Given the description of an element on the screen output the (x, y) to click on. 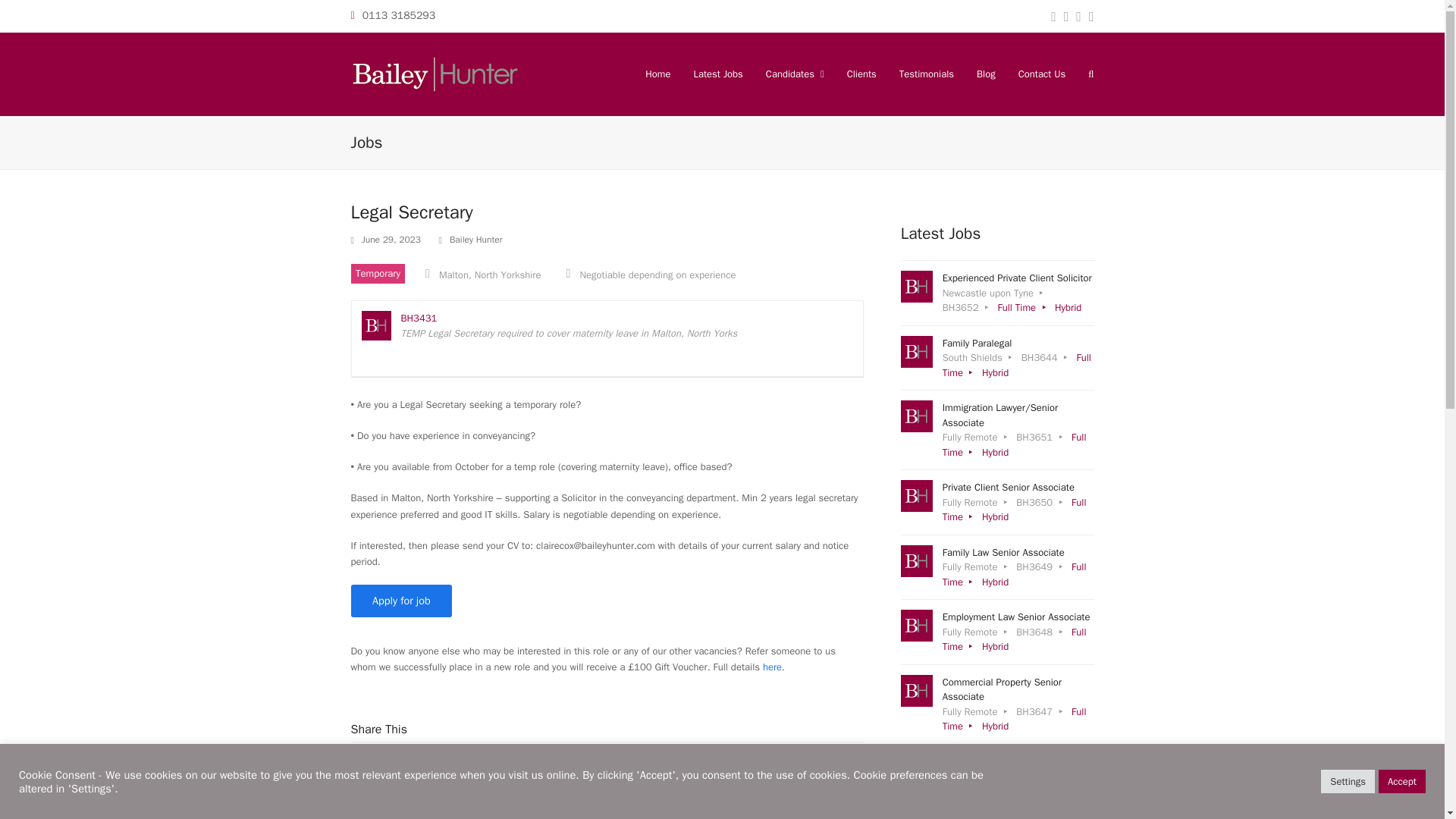
Testimonials (926, 74)
Share on Facebook (395, 770)
Posts by Bailey Hunter (475, 239)
Home (657, 74)
Share on LinkedIn (425, 770)
Share via Email (457, 770)
Share on Twitter (363, 770)
here (997, 357)
Blog (771, 666)
